Given the description of an element on the screen output the (x, y) to click on. 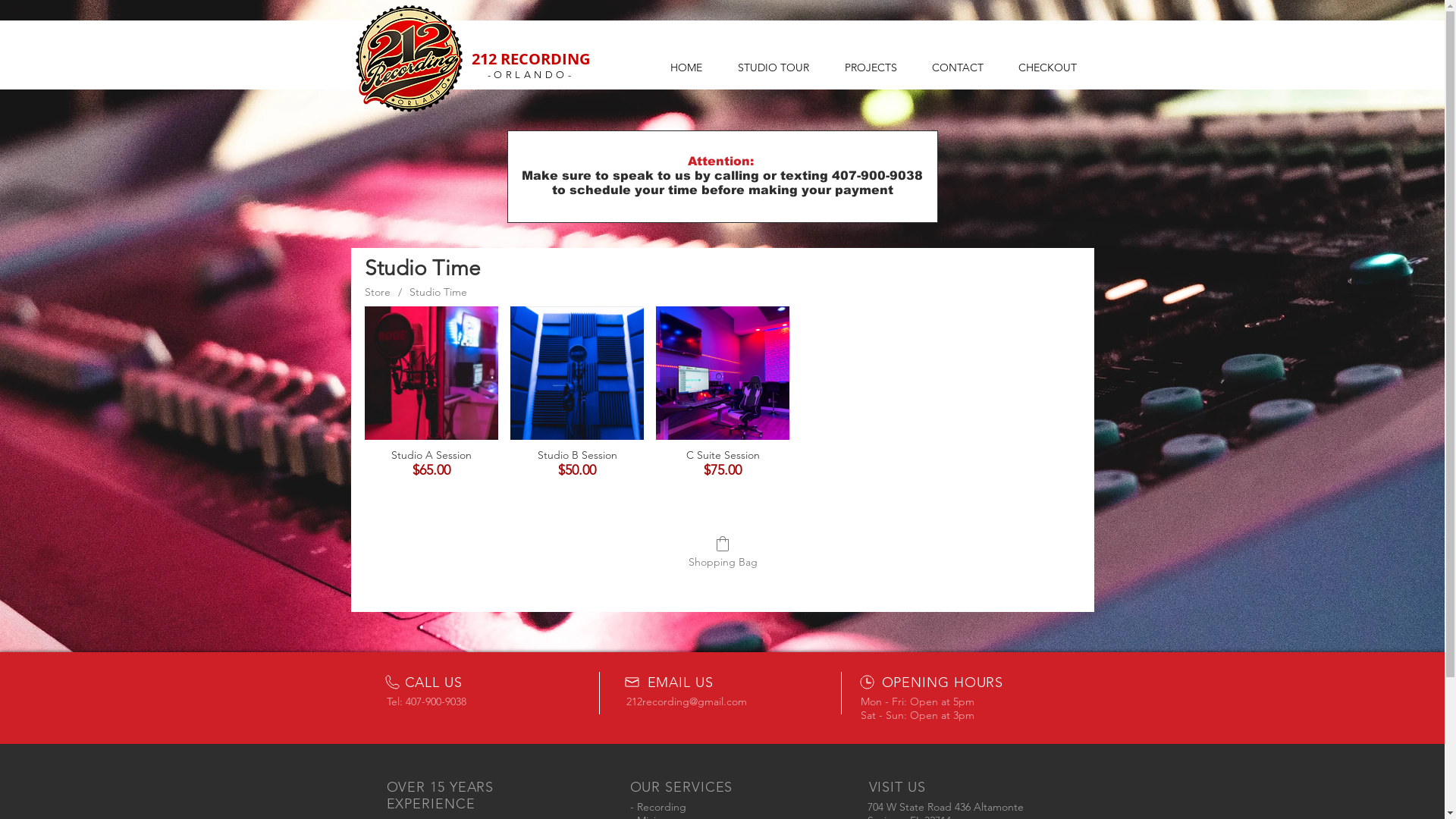
PROJECTS Element type: text (869, 67)
CONTACT Element type: text (957, 67)
HOME Element type: text (685, 67)
STUDIO TOUR Element type: text (773, 67)
Online Store Element type: hover (721, 429)
212 RECORDING Element type: text (530, 58)
CHECKOUT Element type: text (1047, 67)
212recording@gmail.com Element type: text (686, 701)
